Given the description of an element on the screen output the (x, y) to click on. 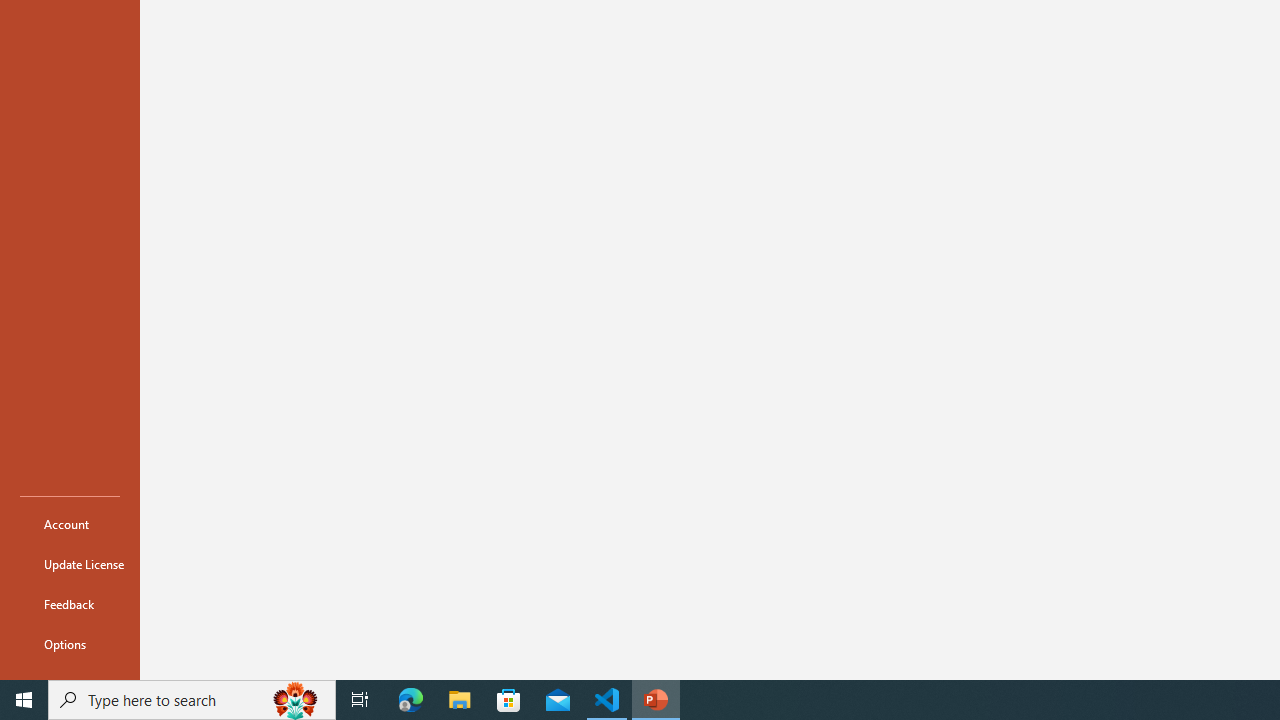
Feedback (69, 603)
Account (69, 523)
Update License (69, 563)
Options (69, 643)
